Given the description of an element on the screen output the (x, y) to click on. 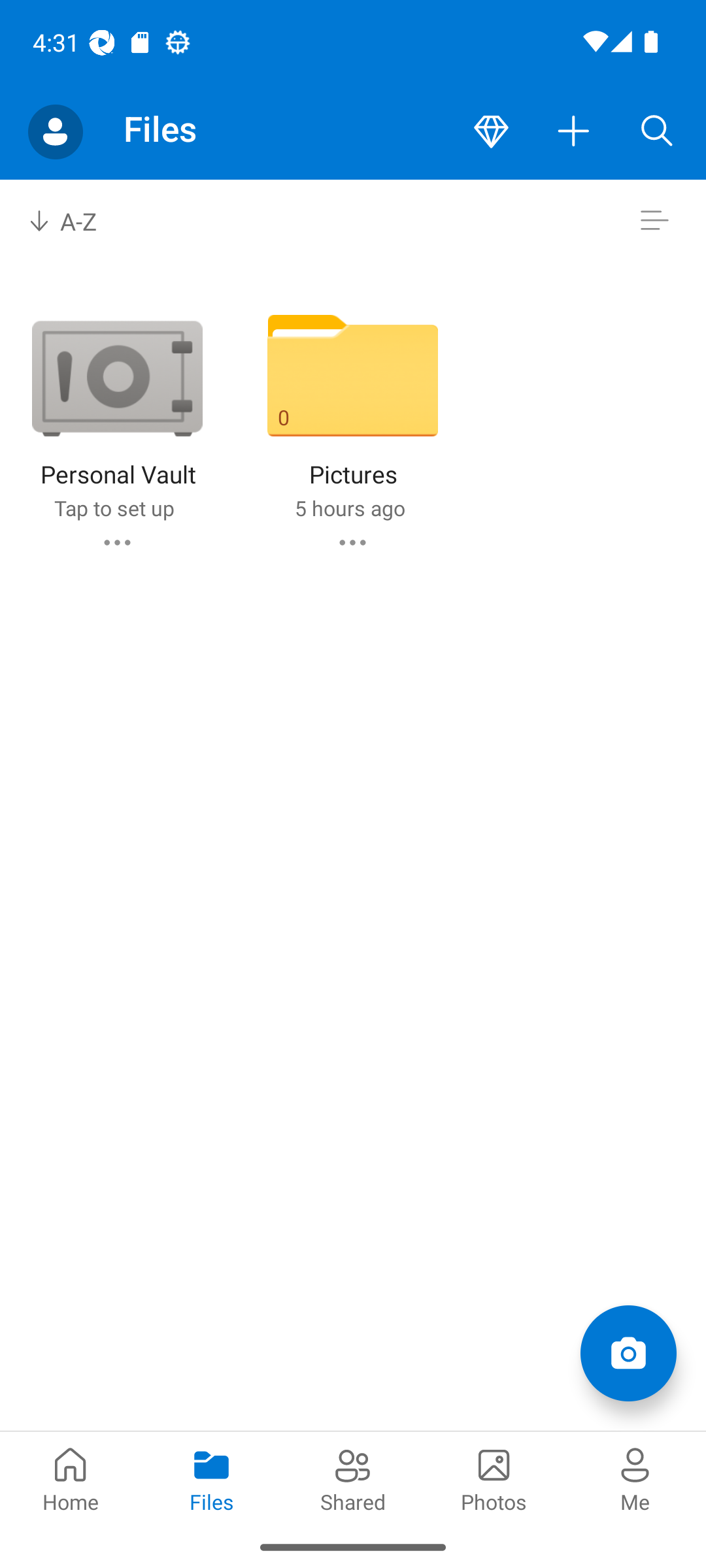
Account switcher (55, 131)
Premium button (491, 131)
More actions button (574, 131)
Search button (656, 131)
A-Z Sort by combo box, sort by name, A to Z (76, 220)
Switch to list view (654, 220)
Tap to set up (113, 507)
5 hours ago (349, 507)
Personal Vault commands (116, 542)
Pictures commands (352, 542)
Add items Scan (628, 1352)
Home pivot Home (70, 1478)
Shared pivot Shared (352, 1478)
Photos pivot Photos (493, 1478)
Me pivot Me (635, 1478)
